Given the description of an element on the screen output the (x, y) to click on. 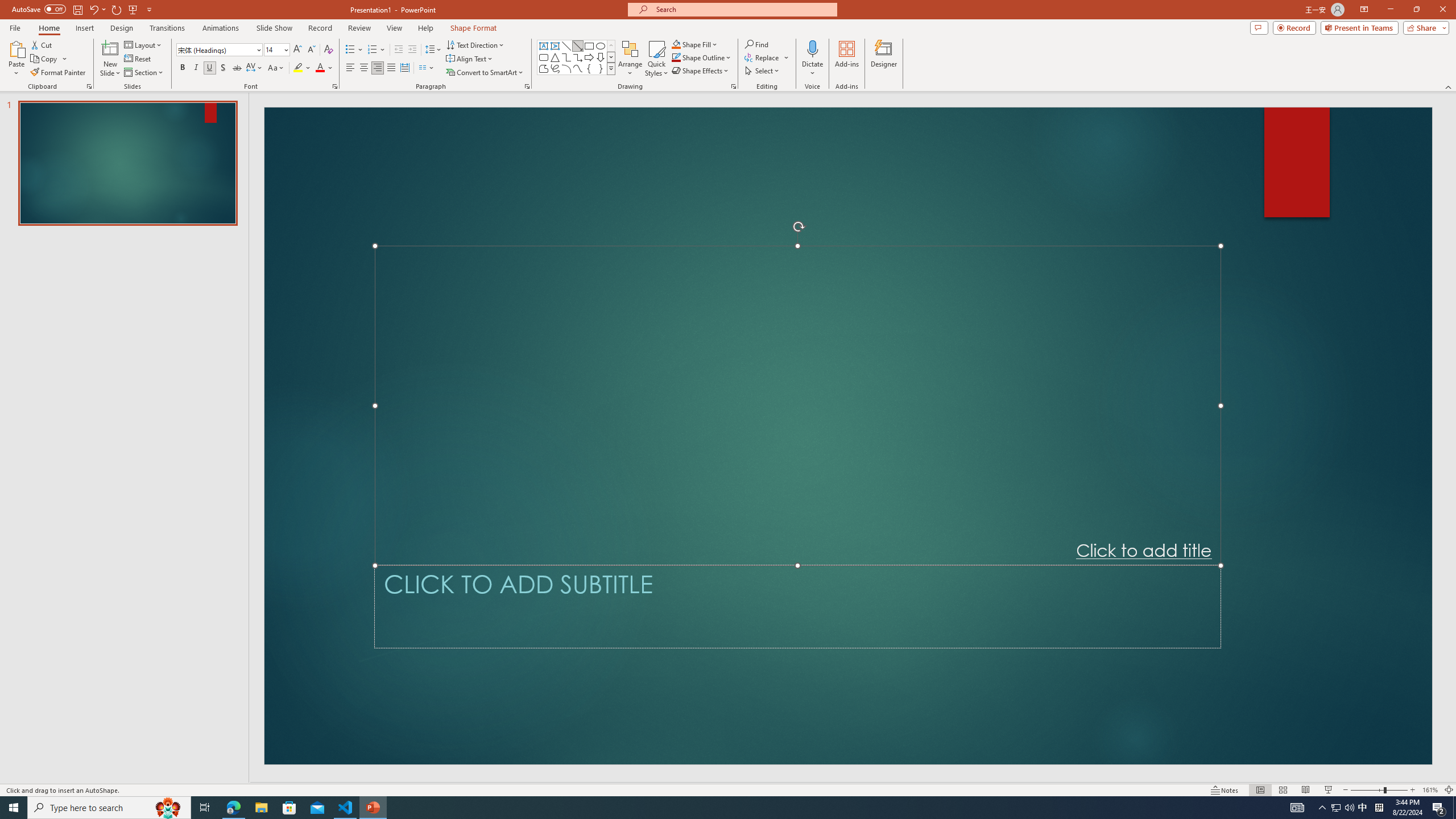
Zoom 161% (1430, 790)
